Given the description of an element on the screen output the (x, y) to click on. 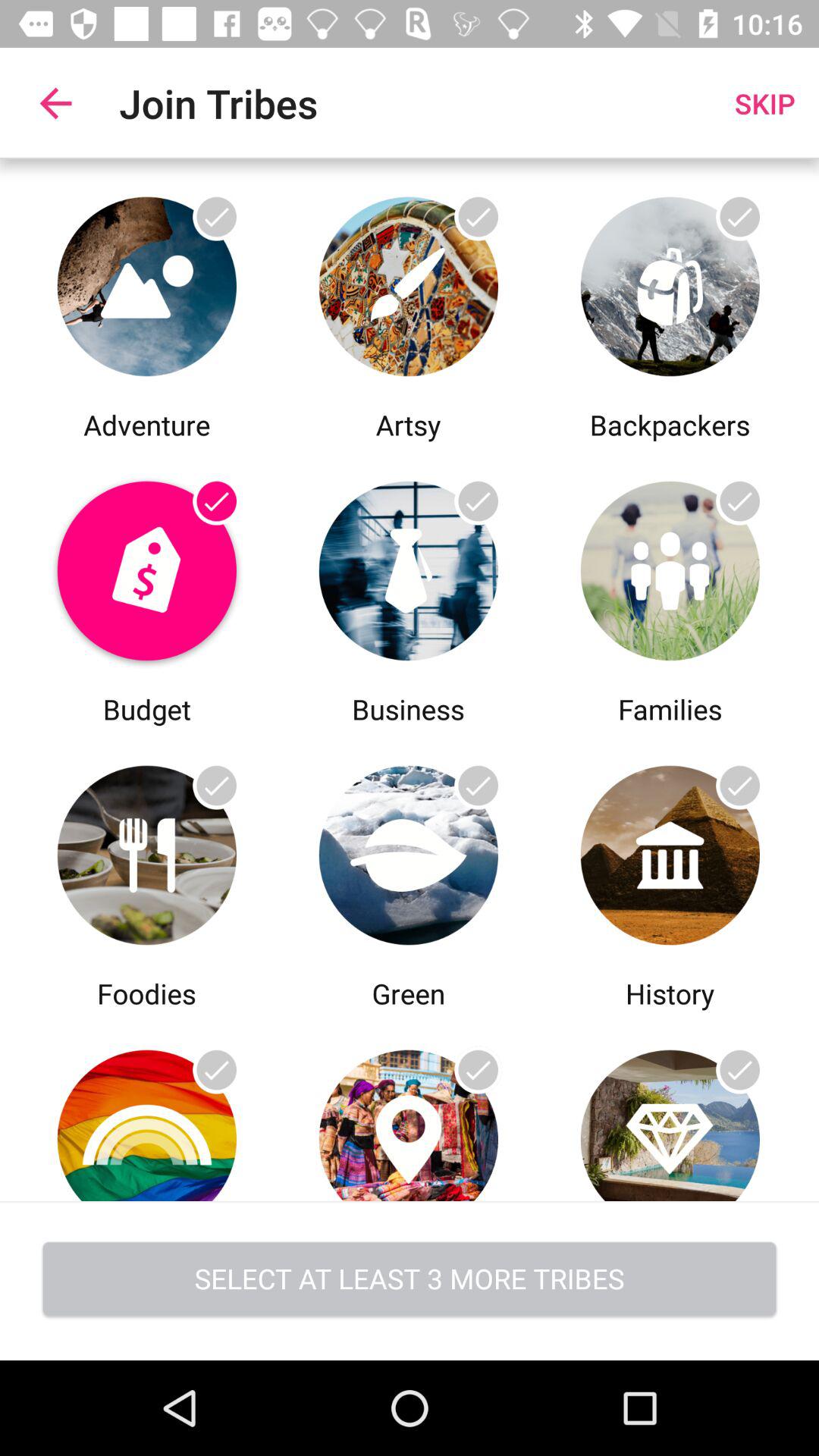
select a group to join (408, 851)
